Given the description of an element on the screen output the (x, y) to click on. 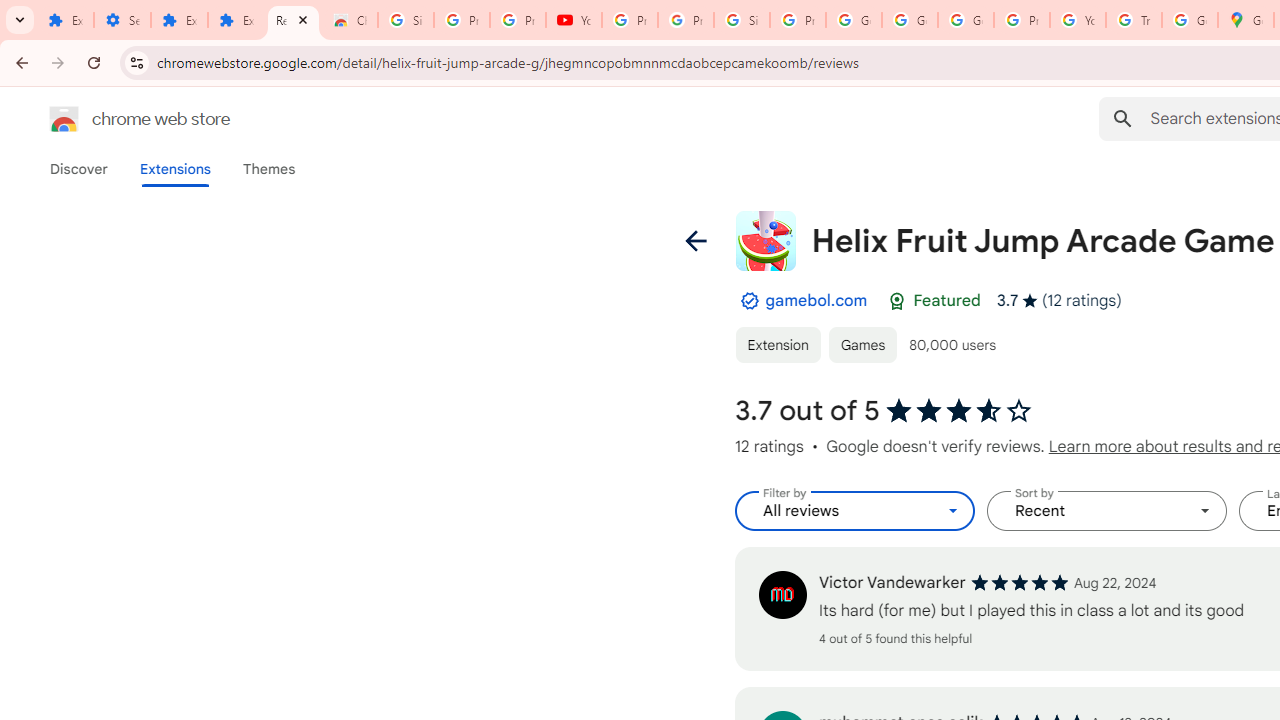
Sign in - Google Accounts (742, 20)
Reviews: Helix Fruit Jump Arcade Game (293, 20)
Sort by Recent (1106, 511)
3.7 out of 5 stars (959, 411)
Google Account (909, 20)
Average rating 3.7 out of 5 stars. 12 ratings. (1058, 300)
Review's profile picture (782, 594)
YouTube (1077, 20)
Extensions (235, 20)
5 out of 5 stars (1019, 582)
